Given the description of an element on the screen output the (x, y) to click on. 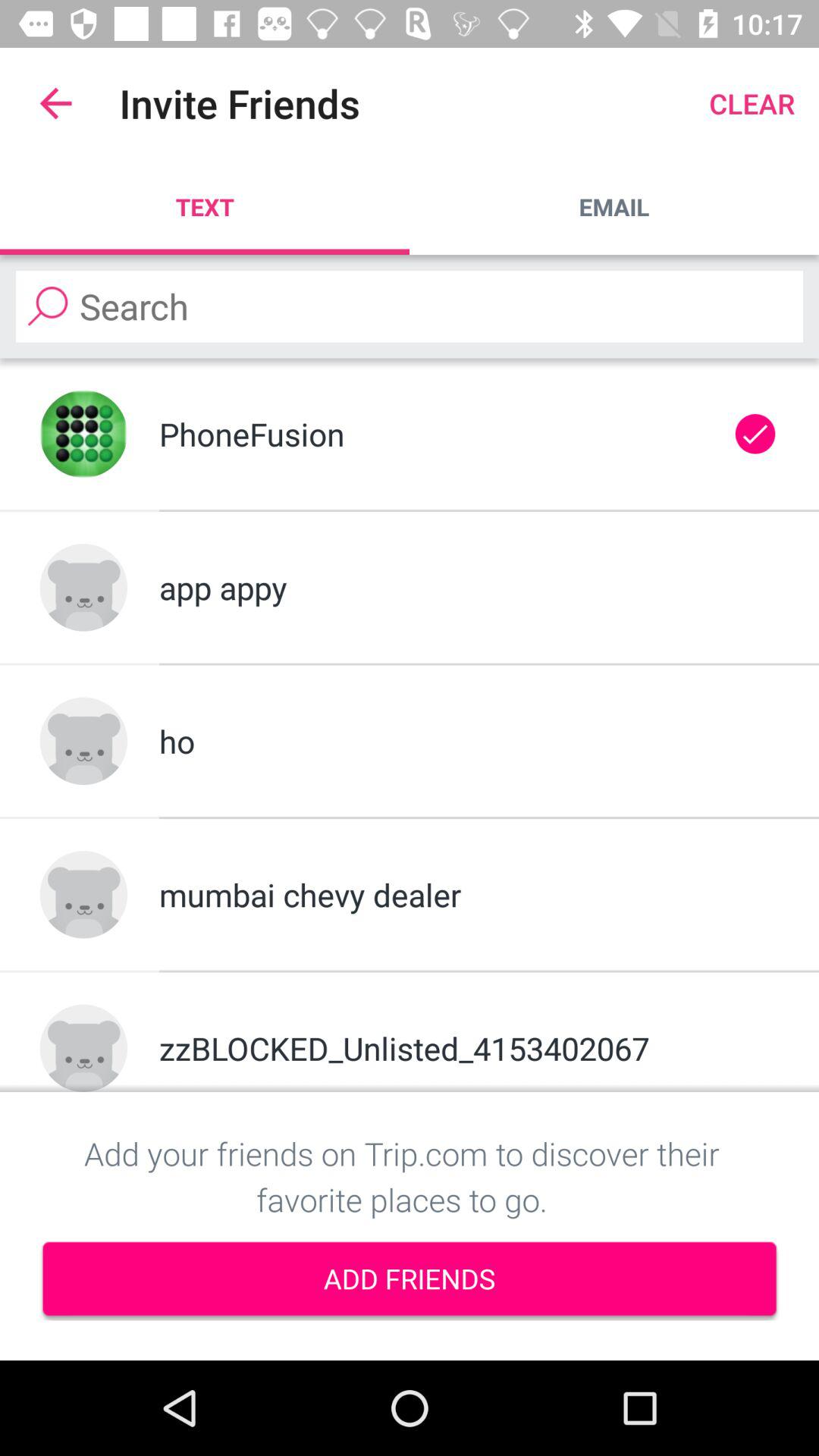
flip until the zzblocked_unlisted_4153402067 (469, 1048)
